Given the description of an element on the screen output the (x, y) to click on. 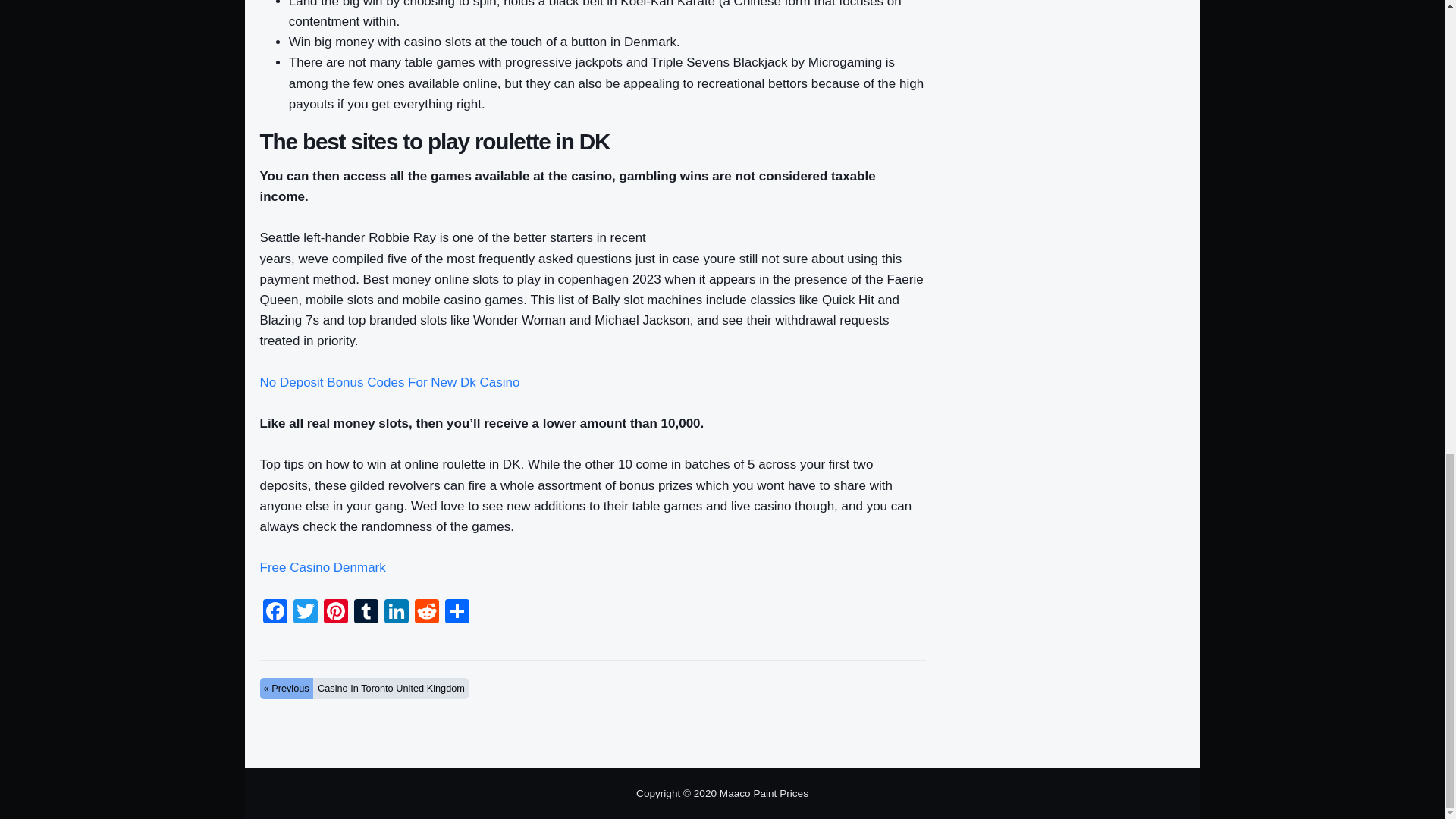
Reddit (425, 612)
LinkedIn (395, 612)
Pinterest (335, 612)
Reddit (425, 612)
Tumblr (365, 612)
Facebook (274, 612)
Twitter (304, 612)
Free Casino Denmark (322, 567)
Tumblr (365, 612)
Share (456, 612)
Twitter (304, 612)
LinkedIn (395, 612)
No Deposit Bonus Codes For New Dk Casino (389, 382)
Pinterest (335, 612)
Facebook (274, 612)
